Given the description of an element on the screen output the (x, y) to click on. 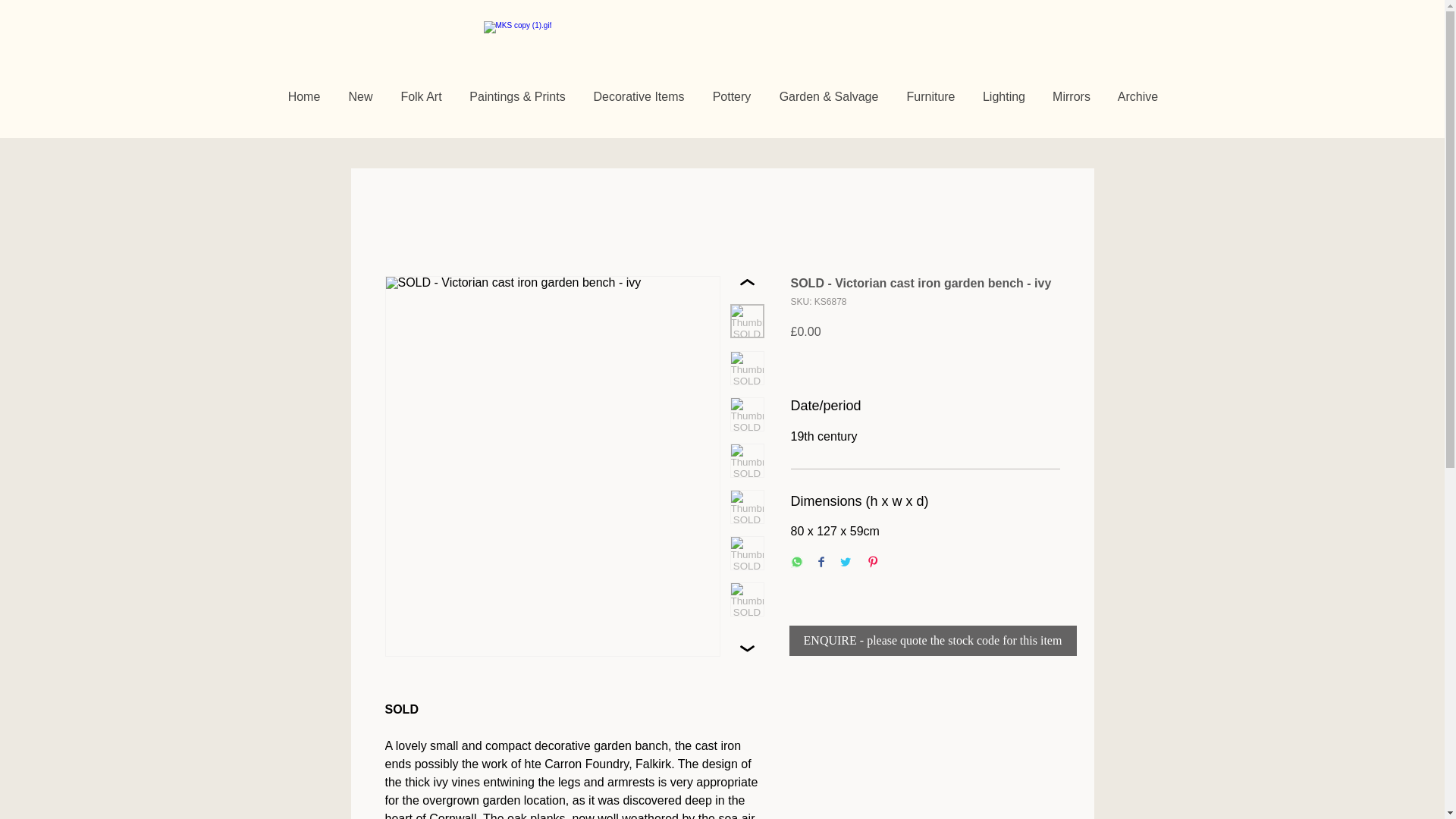
Pottery (730, 96)
Folk Art (421, 96)
Mirrors (1071, 96)
Home (304, 96)
Archive (1137, 96)
New (359, 96)
ENQUIRE - please quote the stock code for this item (932, 640)
Lighting (1004, 96)
Furniture (929, 96)
Decorative Items (638, 96)
